Given the description of an element on the screen output the (x, y) to click on. 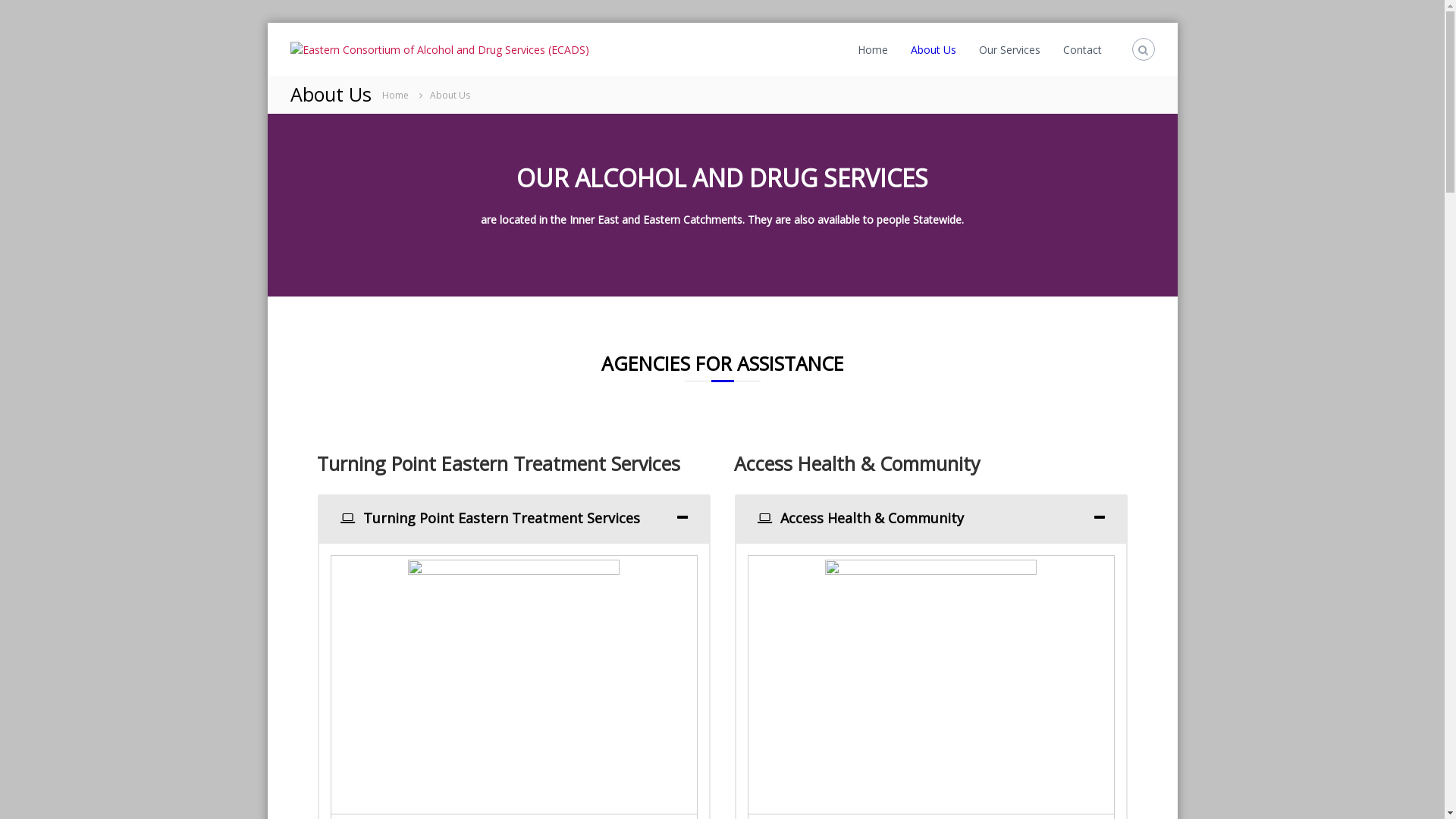
About Us Element type: text (932, 49)
Contact Element type: text (1082, 49)
Turning Point Eastern Treatment Services Element type: text (514, 518)
Home Element type: text (871, 49)
Skip to content Element type: text (266, 21)
Access Health & Community Element type: text (931, 518)
Our Services Element type: text (1008, 49)
Home Element type: text (395, 94)
